Given the description of an element on the screen output the (x, y) to click on. 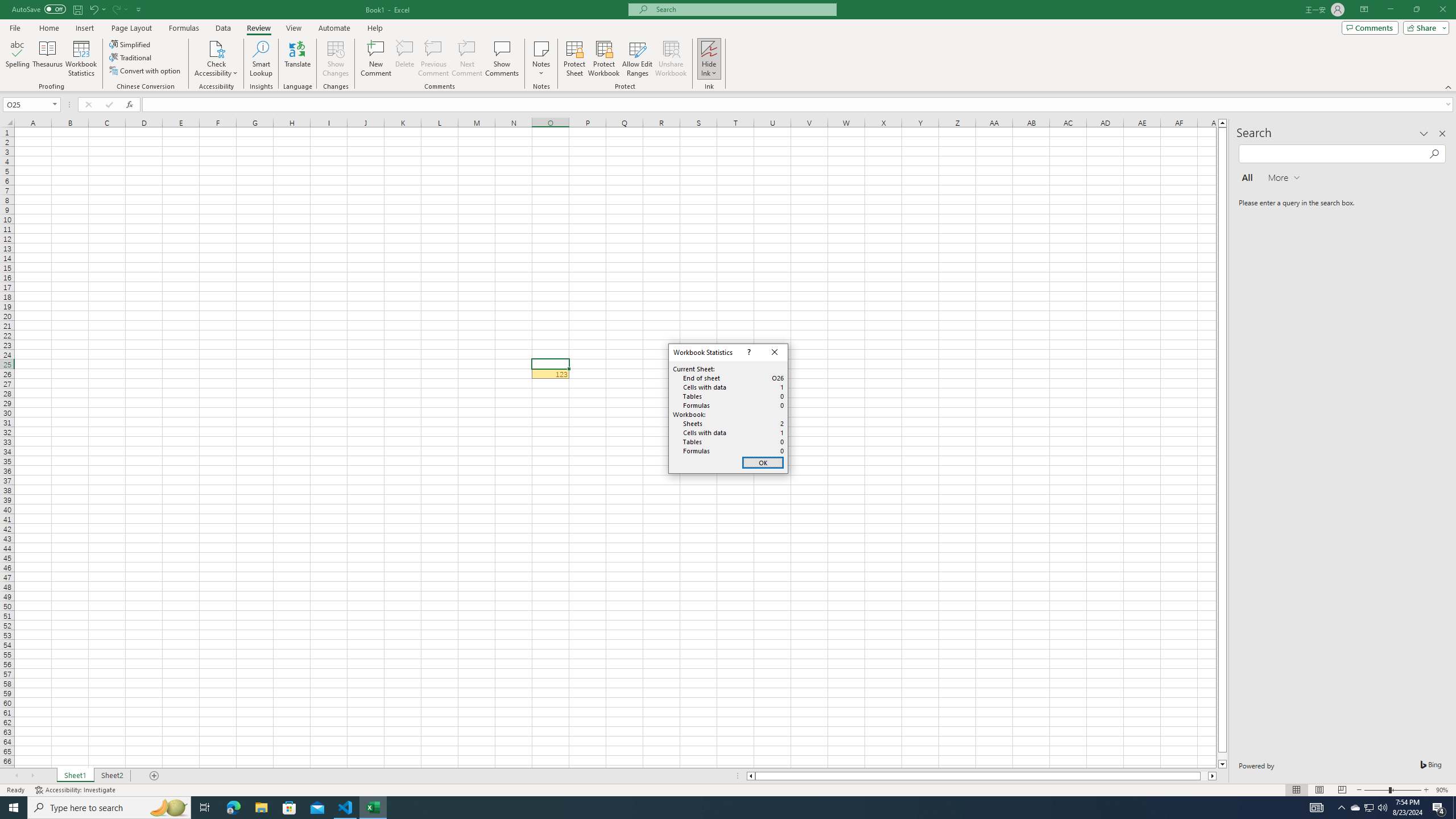
Line up (1222, 122)
Automate (334, 28)
Collapse the Ribbon (1448, 86)
Visual Studio Code - 1 running window (345, 807)
System (6, 6)
Close pane (1441, 133)
Convert with option (145, 69)
Notes (541, 58)
Notification Chevron (1341, 807)
Add Sheet (155, 775)
Excel - 1 running window (373, 807)
Page Layout (1318, 790)
Quick Access Toolbar (77, 9)
OK (762, 462)
